Given the description of an element on the screen output the (x, y) to click on. 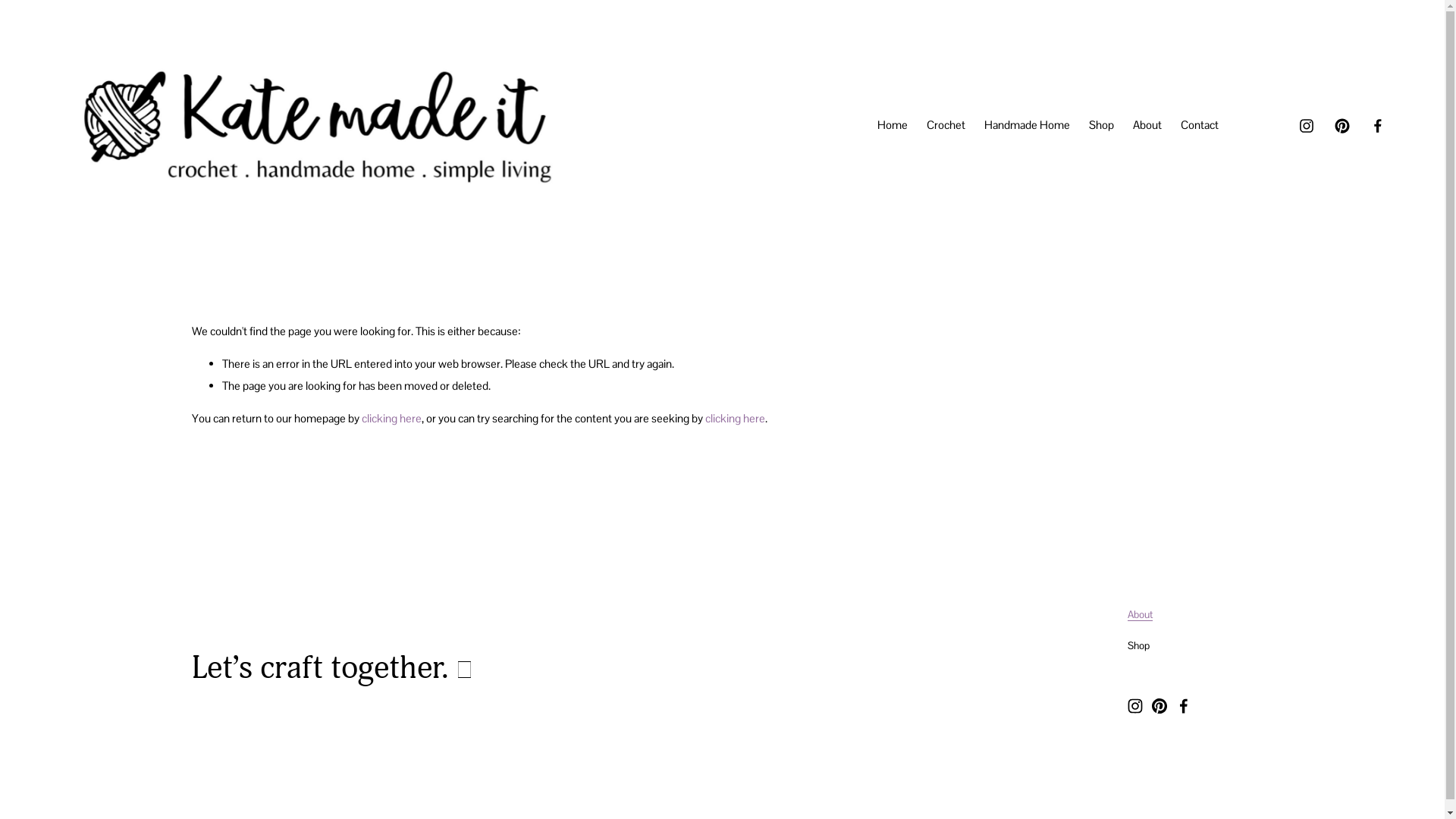
Handmade Home Element type: text (1027, 125)
Contact Element type: text (1199, 125)
About Element type: text (1146, 125)
clicking here Element type: text (735, 418)
Crochet Element type: text (945, 125)
Home Element type: text (892, 125)
Shop Element type: text (1100, 125)
clicking here Element type: text (390, 418)
About Element type: text (1139, 614)
